Given the description of an element on the screen output the (x, y) to click on. 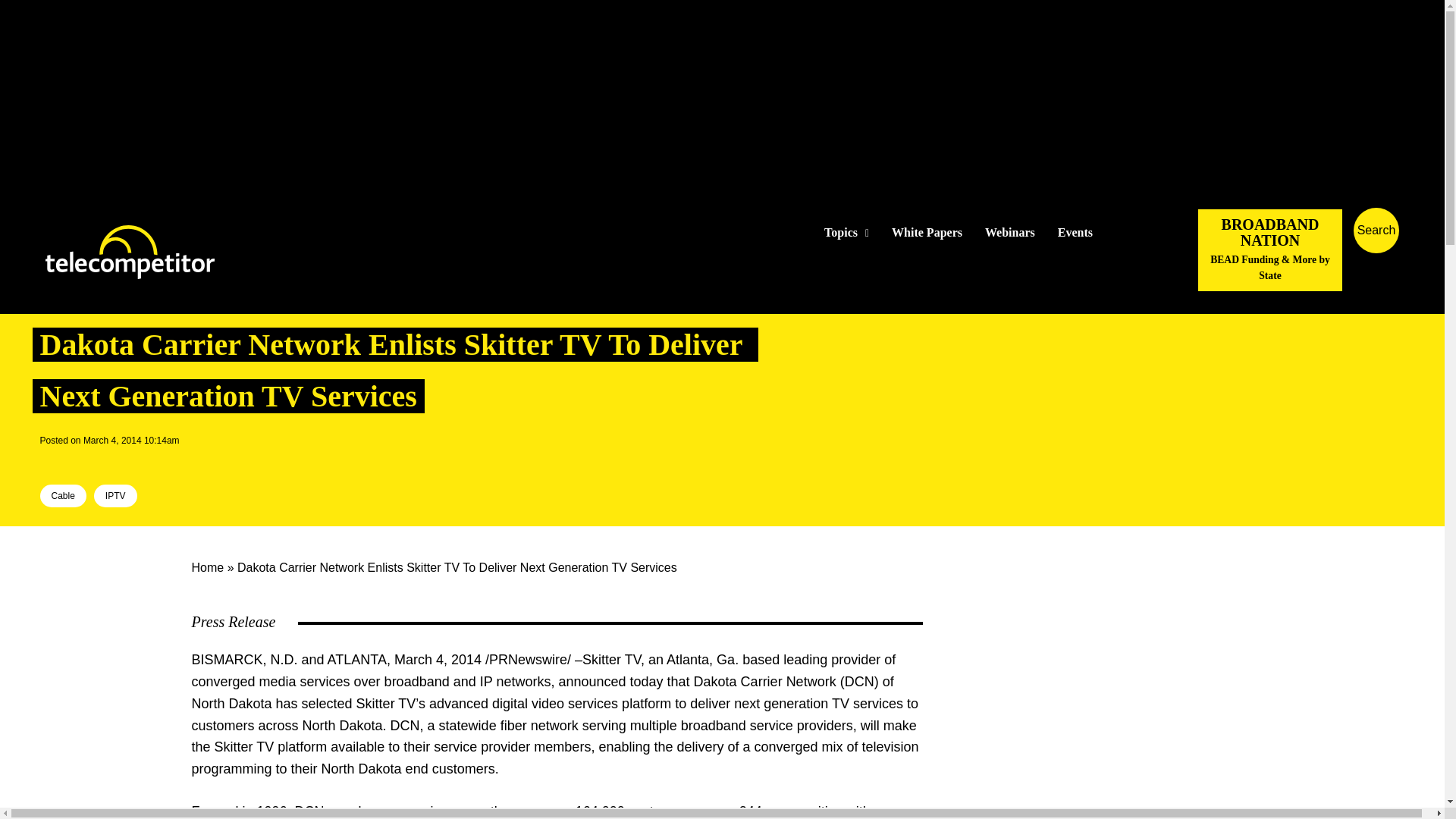
Search telecompetitor.com (1376, 230)
Webinars (1010, 232)
Follow Us on Twitter (1127, 232)
Topics (846, 232)
Search (1430, 253)
Events (1074, 232)
White Papers (927, 232)
Share on Facebook (51, 460)
Pinterest (124, 460)
Share on Linked In (99, 460)
